Given the description of an element on the screen output the (x, y) to click on. 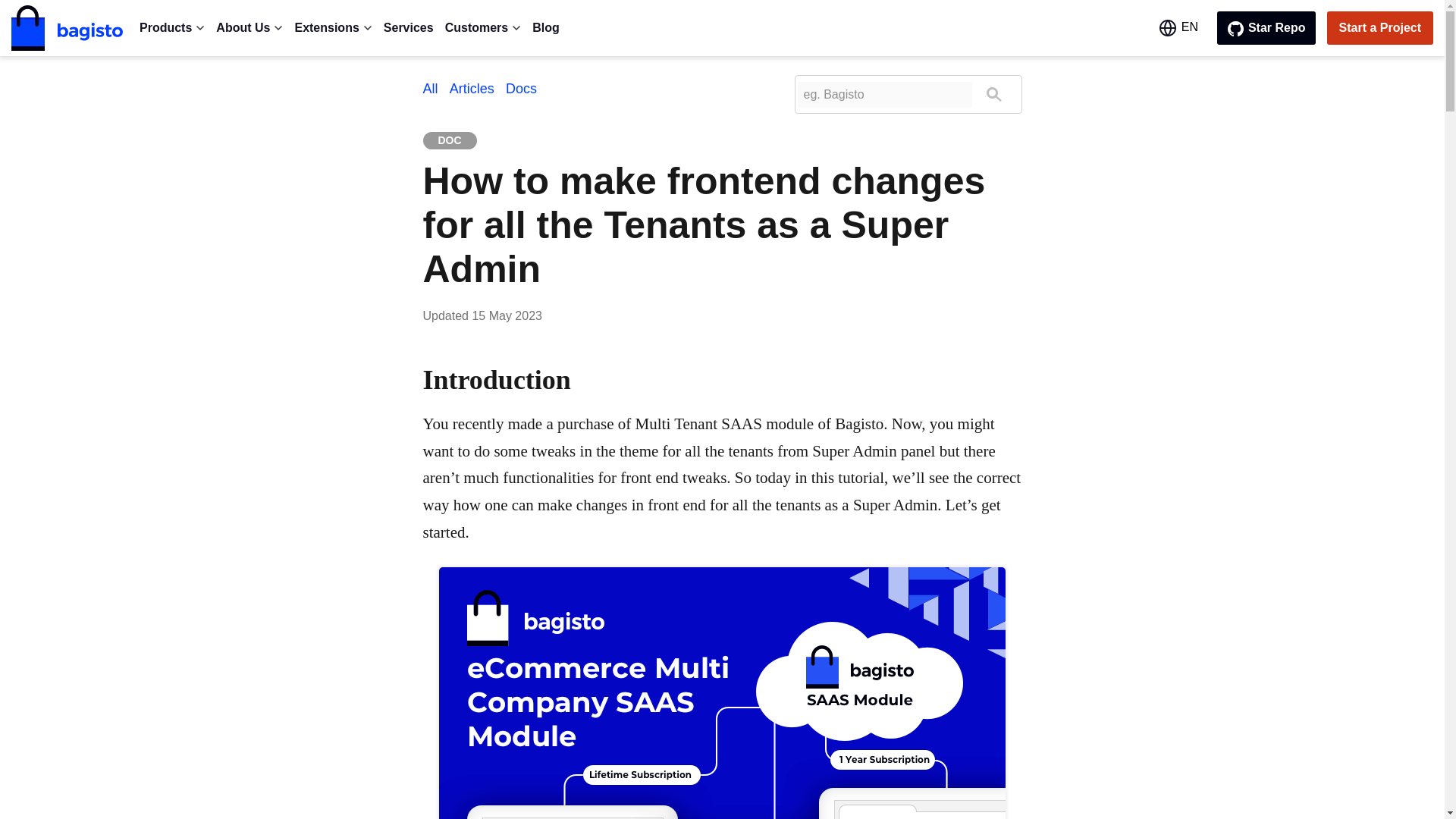
Bagisto (66, 27)
Services (408, 28)
About Us (248, 28)
Products (172, 28)
